Given the description of an element on the screen output the (x, y) to click on. 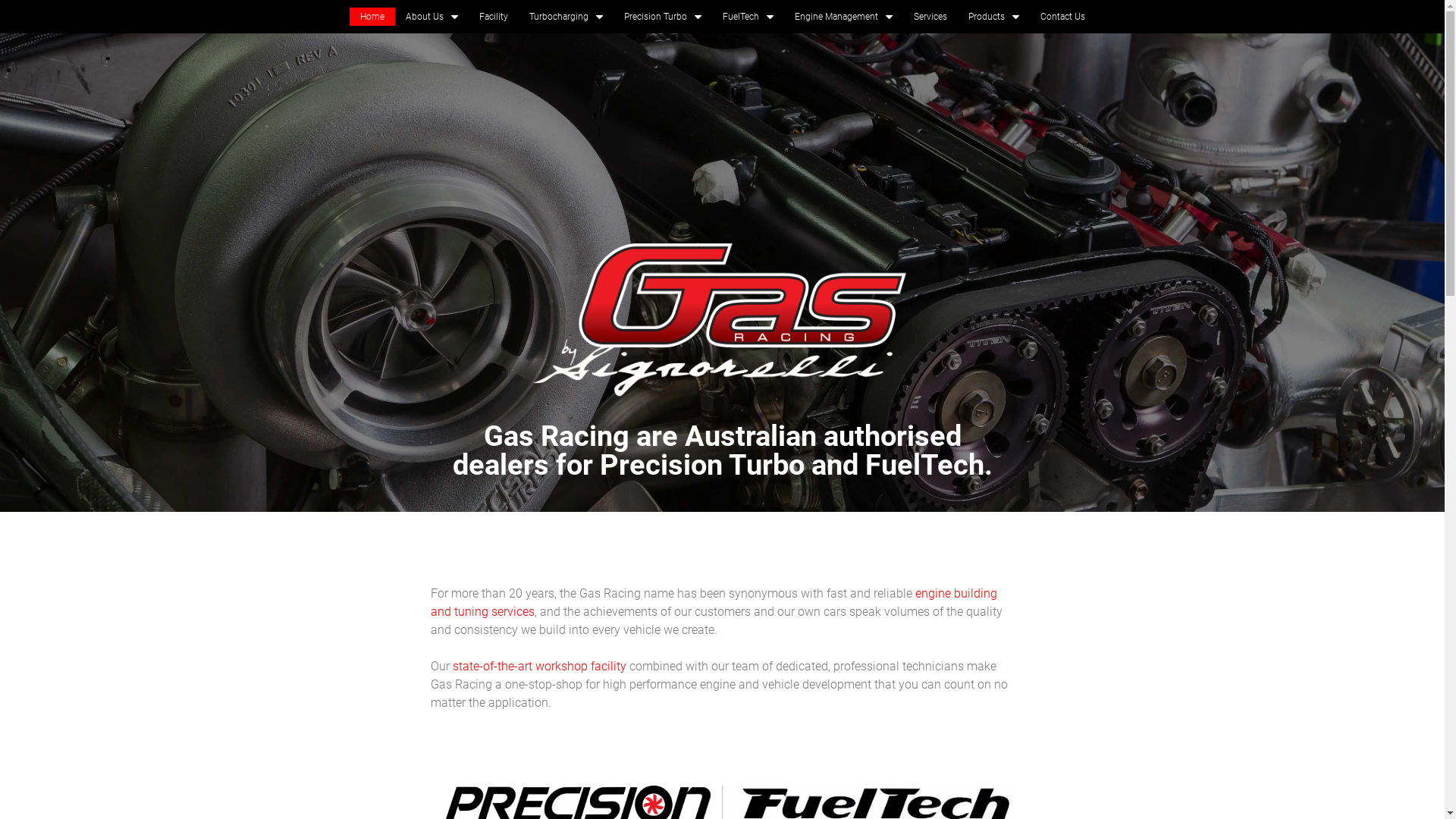
Services Element type: text (929, 16)
Products Element type: text (993, 16)
Contact Us Element type: text (1062, 16)
Engine Management Element type: text (843, 16)
Home Element type: text (371, 16)
FuelTech Element type: text (747, 16)
Precision Turbo Element type: text (661, 16)
state-of-the-art workshop facility Element type: text (538, 665)
engine building and tuning services Element type: text (713, 602)
Facility Element type: text (493, 16)
About Us Element type: text (430, 16)
Turbocharging Element type: text (565, 16)
